Given the description of an element on the screen output the (x, y) to click on. 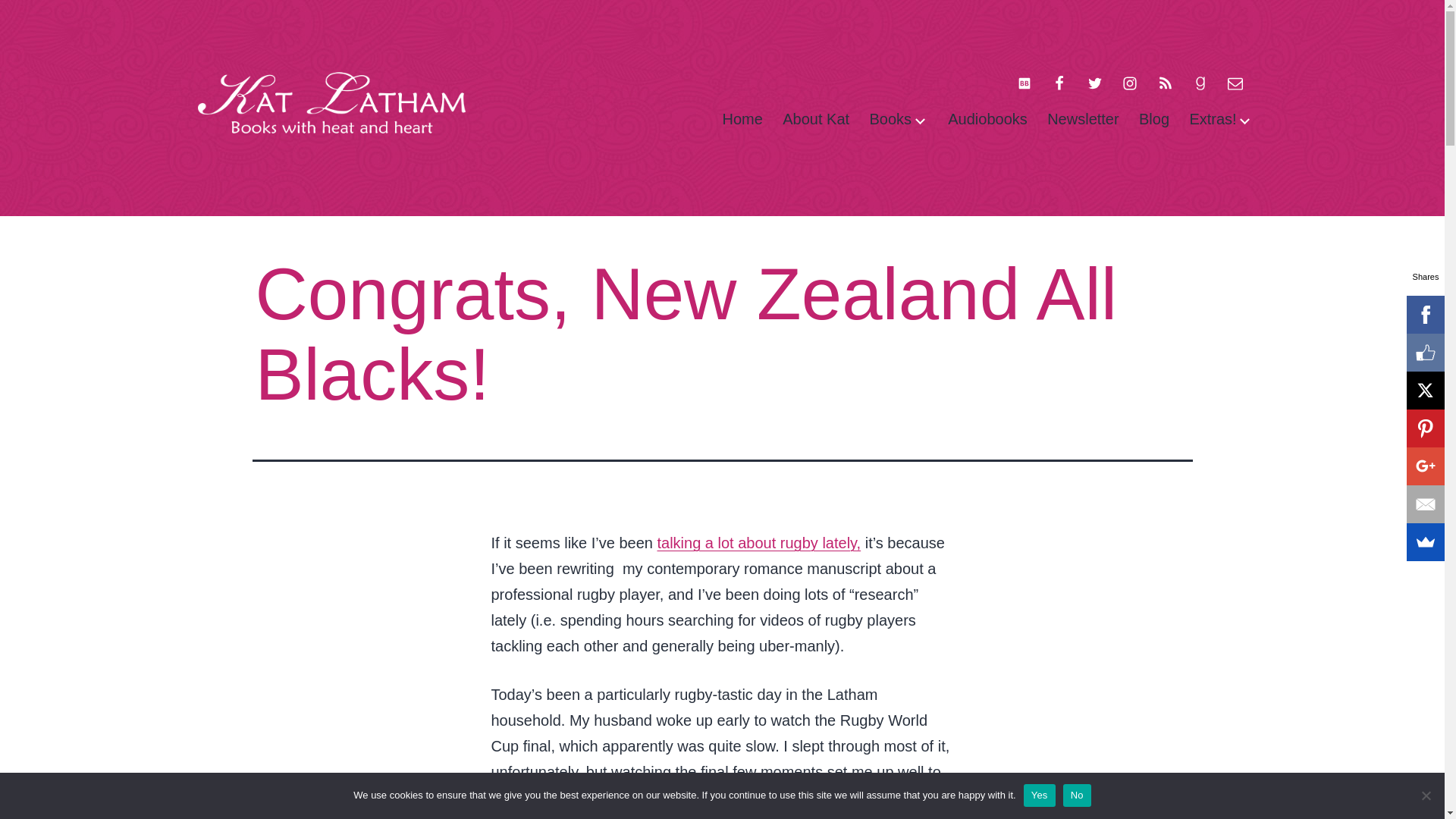
Twitter (1094, 81)
Instagram (1129, 81)
Extras! (1212, 119)
BookBub (1024, 81)
Facebook (1059, 81)
Contact (1234, 81)
RSS (1164, 81)
Home (742, 119)
About Kat (816, 119)
talking a lot about rugby lately, (758, 542)
Books (890, 119)
Goodreads (1199, 81)
Newsletter (1082, 119)
Blog (1154, 119)
